Given the description of an element on the screen output the (x, y) to click on. 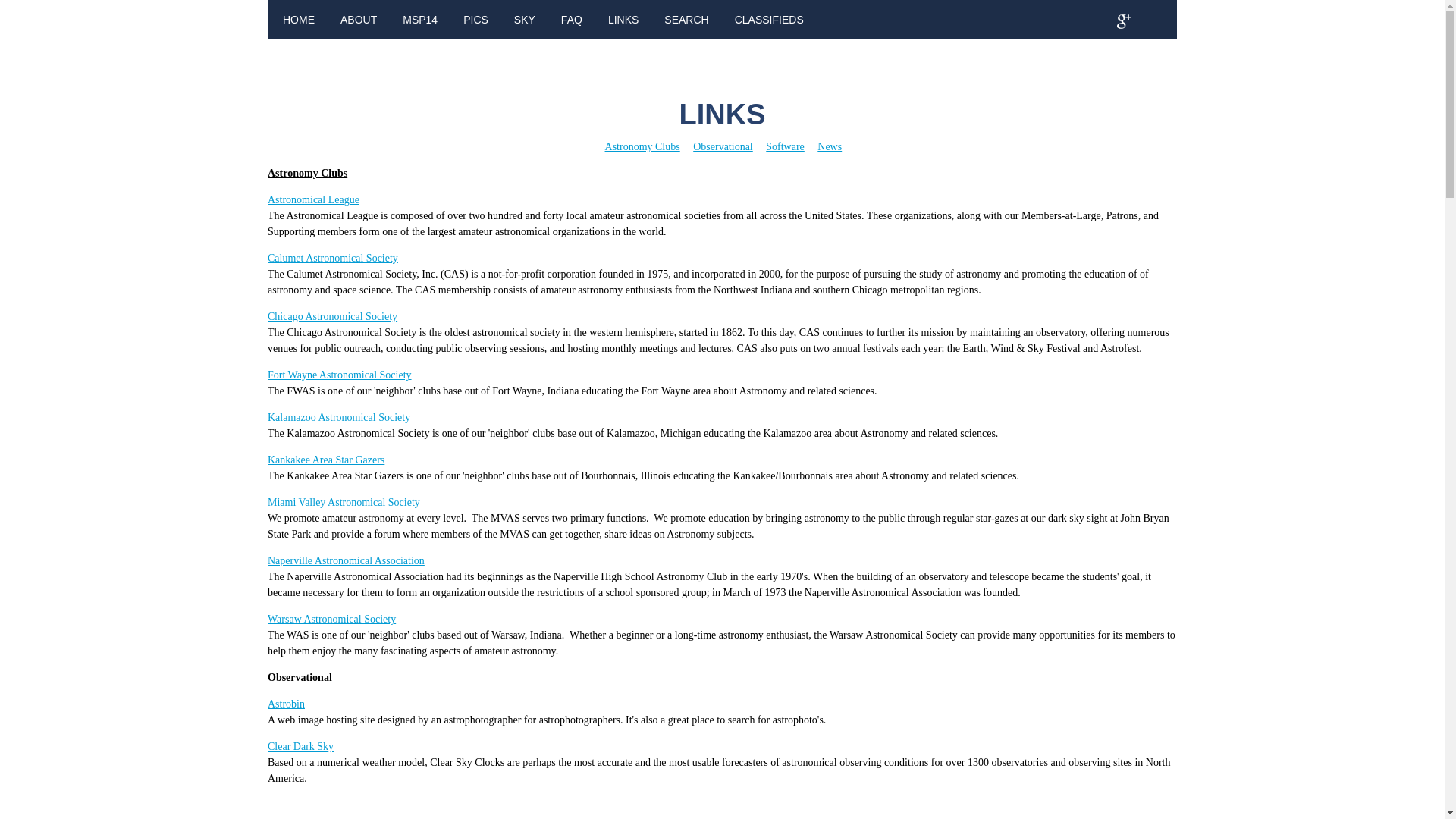
Fort Wayne Astronomical Society (339, 374)
Warsaw Astronomical Society (331, 618)
News (828, 146)
LINKS (623, 19)
Calumet Astronomical Society (332, 257)
About (358, 19)
Home (298, 19)
Pics (475, 19)
SEARCH (685, 19)
CLASSIFIEDS (769, 19)
